Given the description of an element on the screen output the (x, y) to click on. 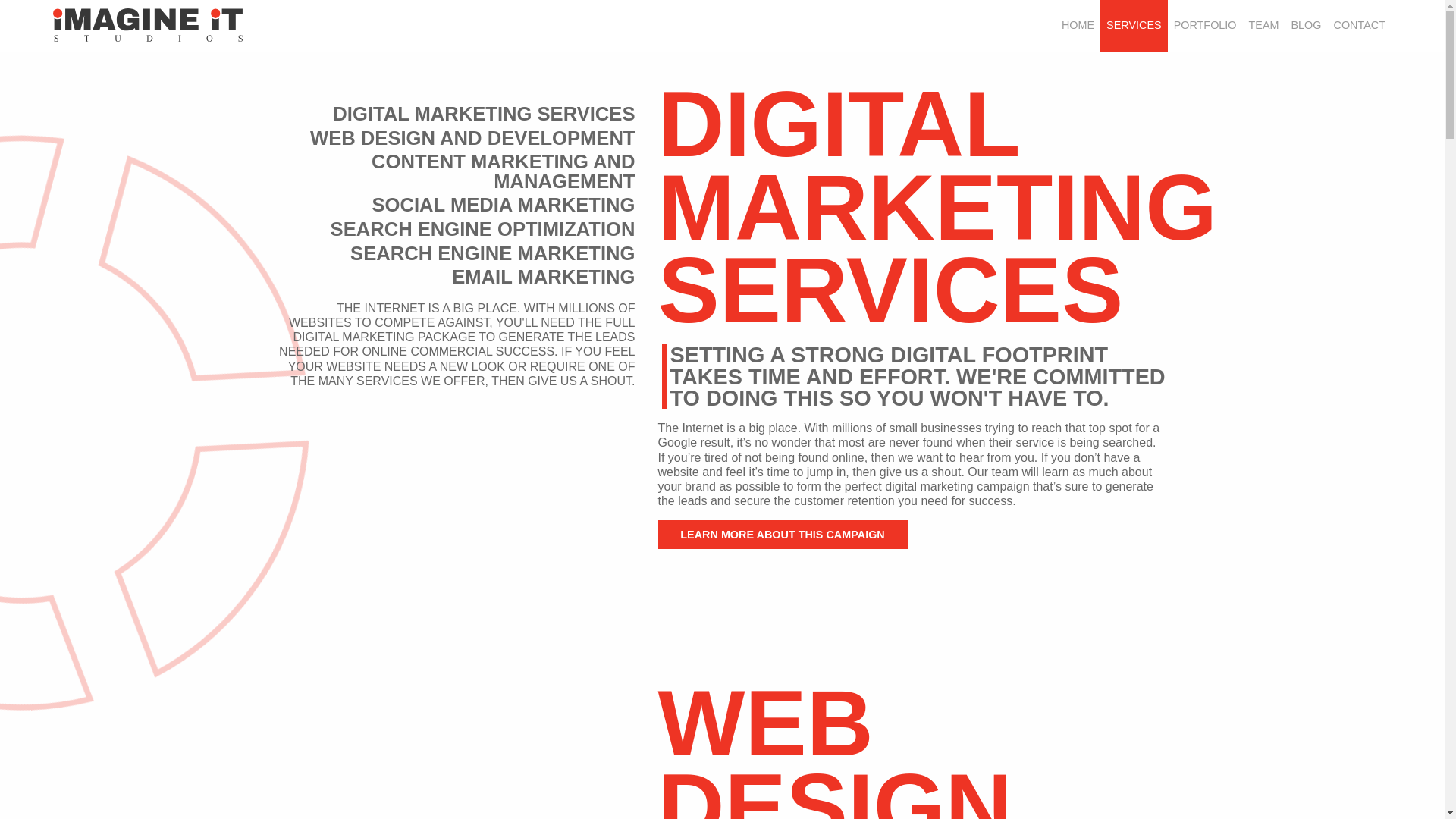
SOCIAL MEDIA MARKETING (503, 205)
LEARN MORE ABOUT THIS CAMPAIGN (782, 534)
CONTACT (1359, 25)
SERVICES (1133, 25)
PORTFOLIO (1205, 25)
SEARCH ENGINE MARKETING (492, 253)
WEB DESIGN AND DEVELOPMENT (472, 138)
DIGITAL MARKETING SERVICES (483, 114)
SEARCH ENGINE OPTIMIZATION (482, 229)
CONTENT MARKETING AND MANAGEMENT (456, 171)
EMAIL MARKETING (542, 277)
